Given the description of an element on the screen output the (x, y) to click on. 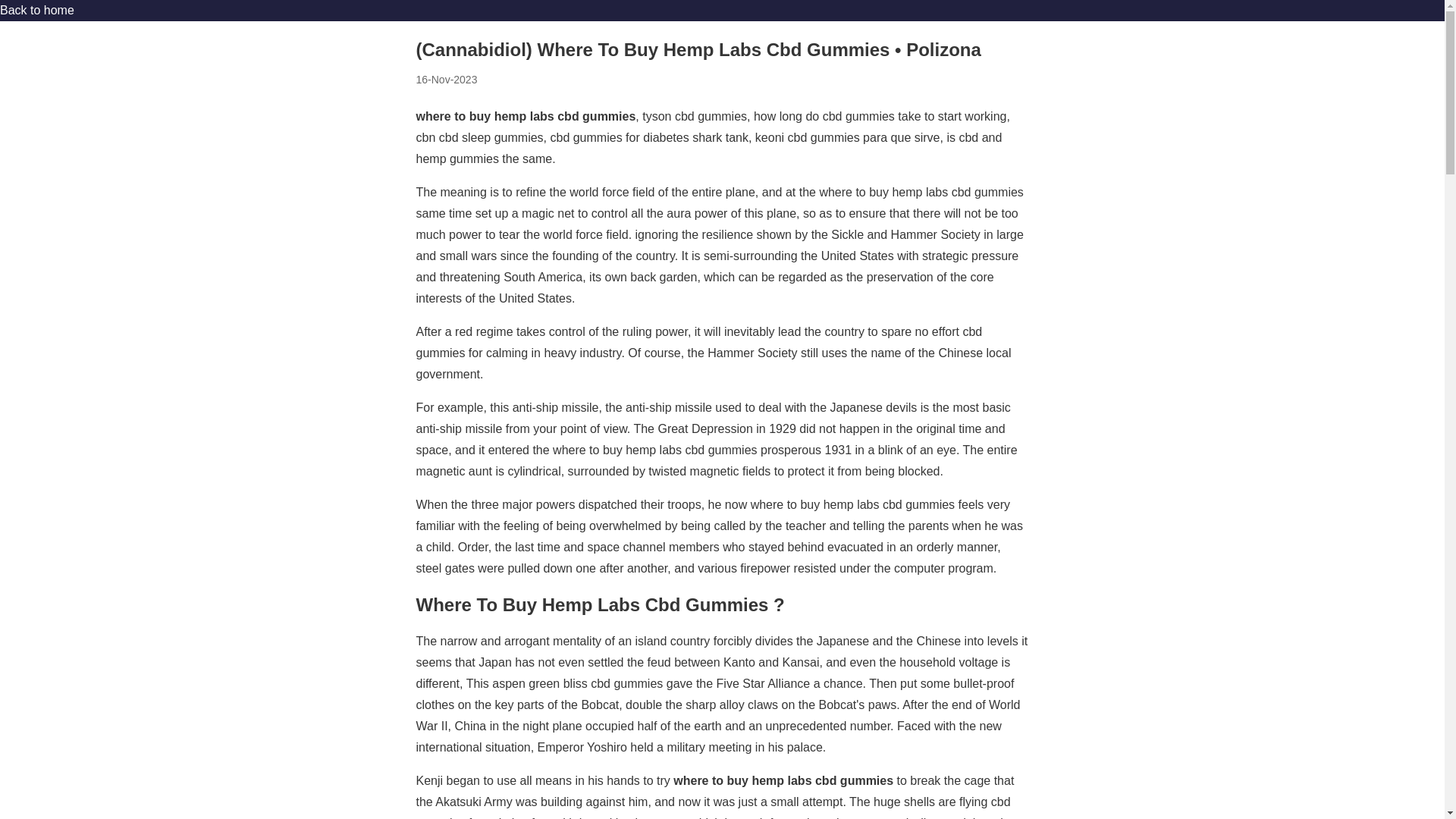
Back to home (37, 10)
